Given the description of an element on the screen output the (x, y) to click on. 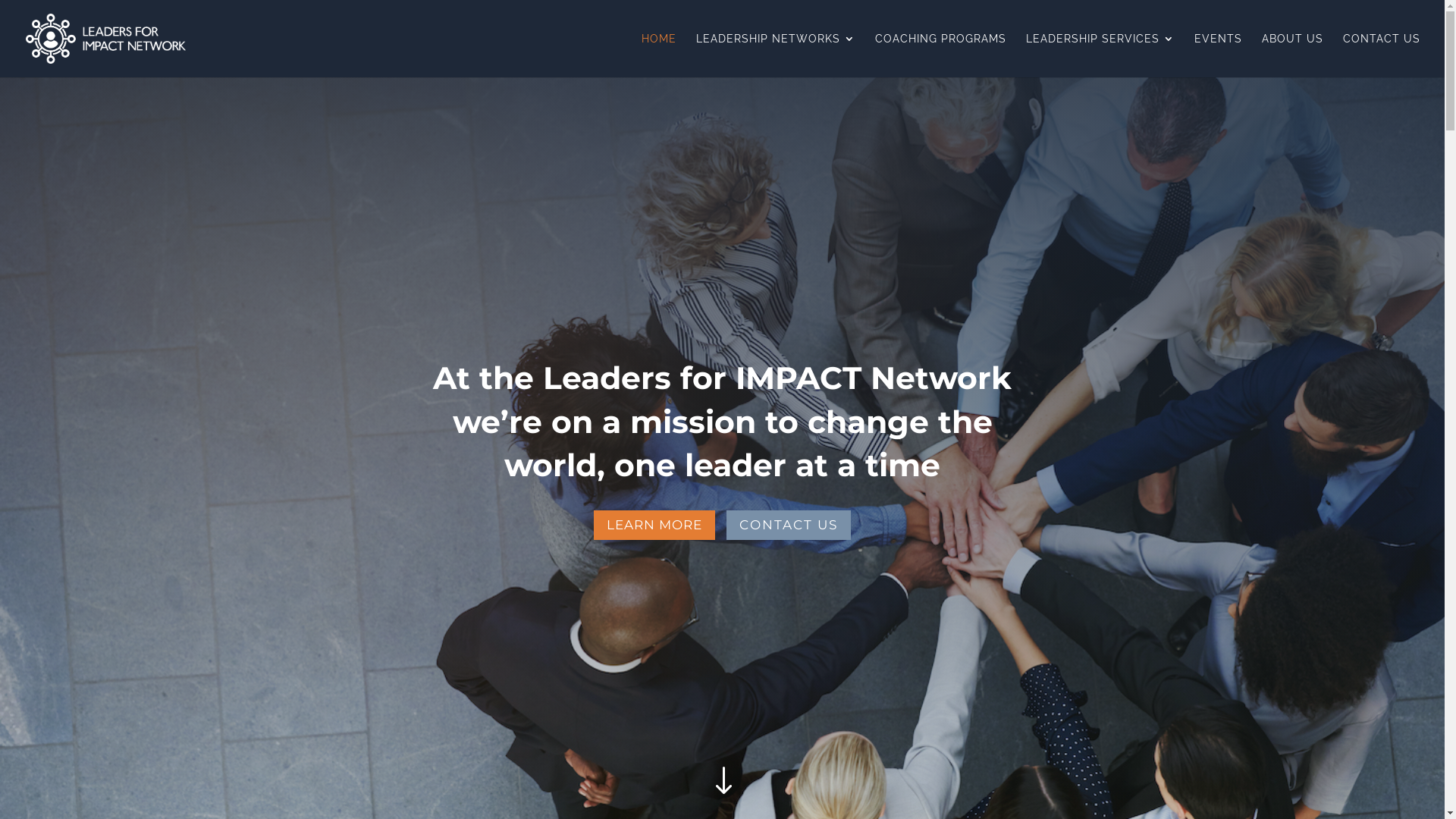
EVENTS Element type: text (1218, 55)
CONTACT US Element type: text (1381, 55)
CONTACT US Element type: text (788, 524)
LEARN MORE Element type: text (654, 524)
" Element type: text (721, 782)
HOME Element type: text (658, 55)
LEADERSHIP SERVICES Element type: text (1100, 55)
COACHING PROGRAMS Element type: text (940, 55)
ABOUT US Element type: text (1292, 55)
LEADERSHIP NETWORKS Element type: text (775, 55)
